Given the description of an element on the screen output the (x, y) to click on. 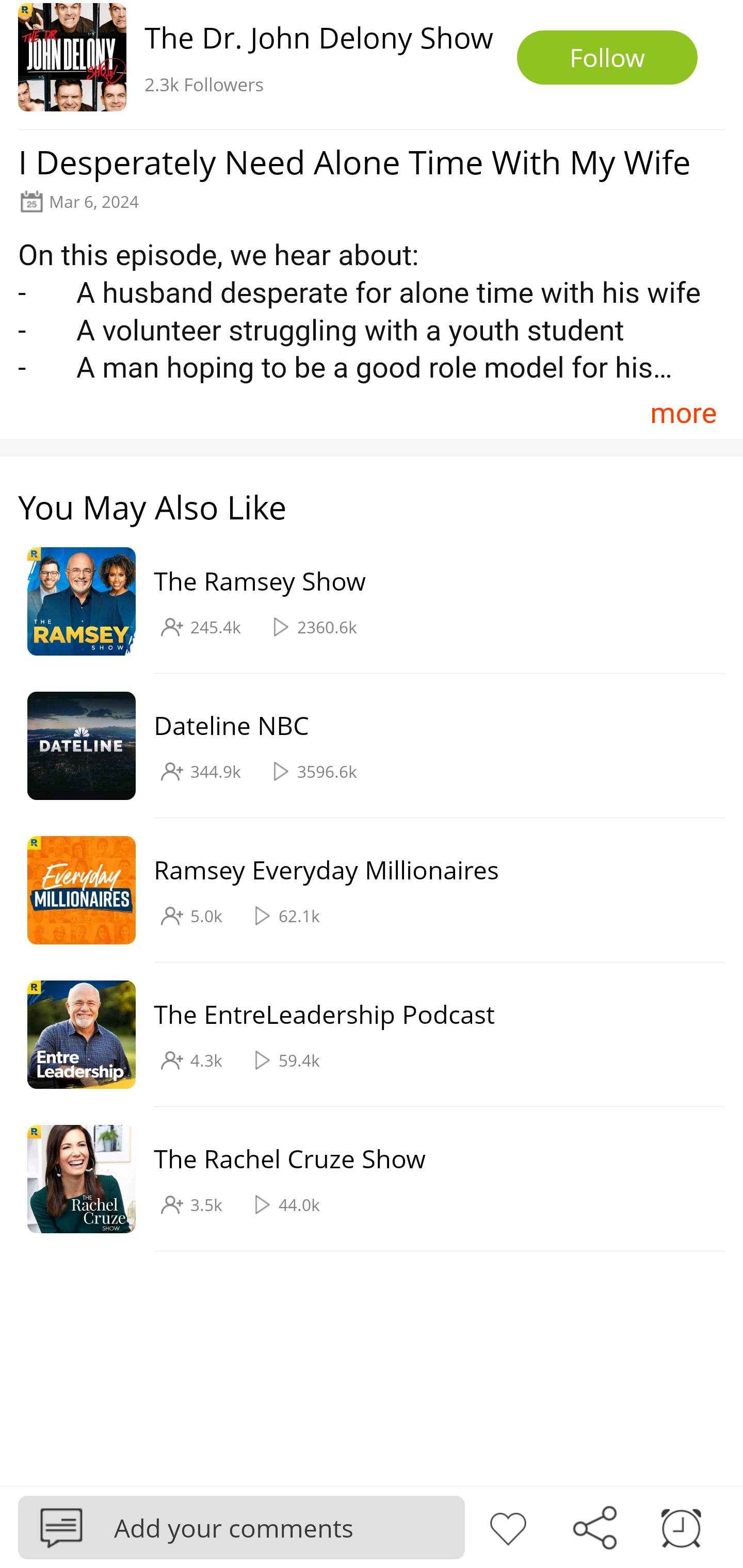
The Dr. John Delony Show 2.3k Followers Follow (371, 65)
Follow (607, 56)
more (682, 412)
The Ramsey Show 245.4k 2360.6k (362, 601)
Dateline NBC 344.9k 3596.6k (362, 746)
Ramsey Everyday Millionaires 5.0k 62.1k (362, 890)
The EntreLeadership Podcast 4.3k 59.4k (362, 1034)
The Rachel Cruze Show 3.5k 44.0k (362, 1179)
Like (508, 1526)
Share (594, 1526)
Sleep timer (681, 1526)
Podbean Add your comments (241, 1526)
